Given the description of an element on the screen output the (x, y) to click on. 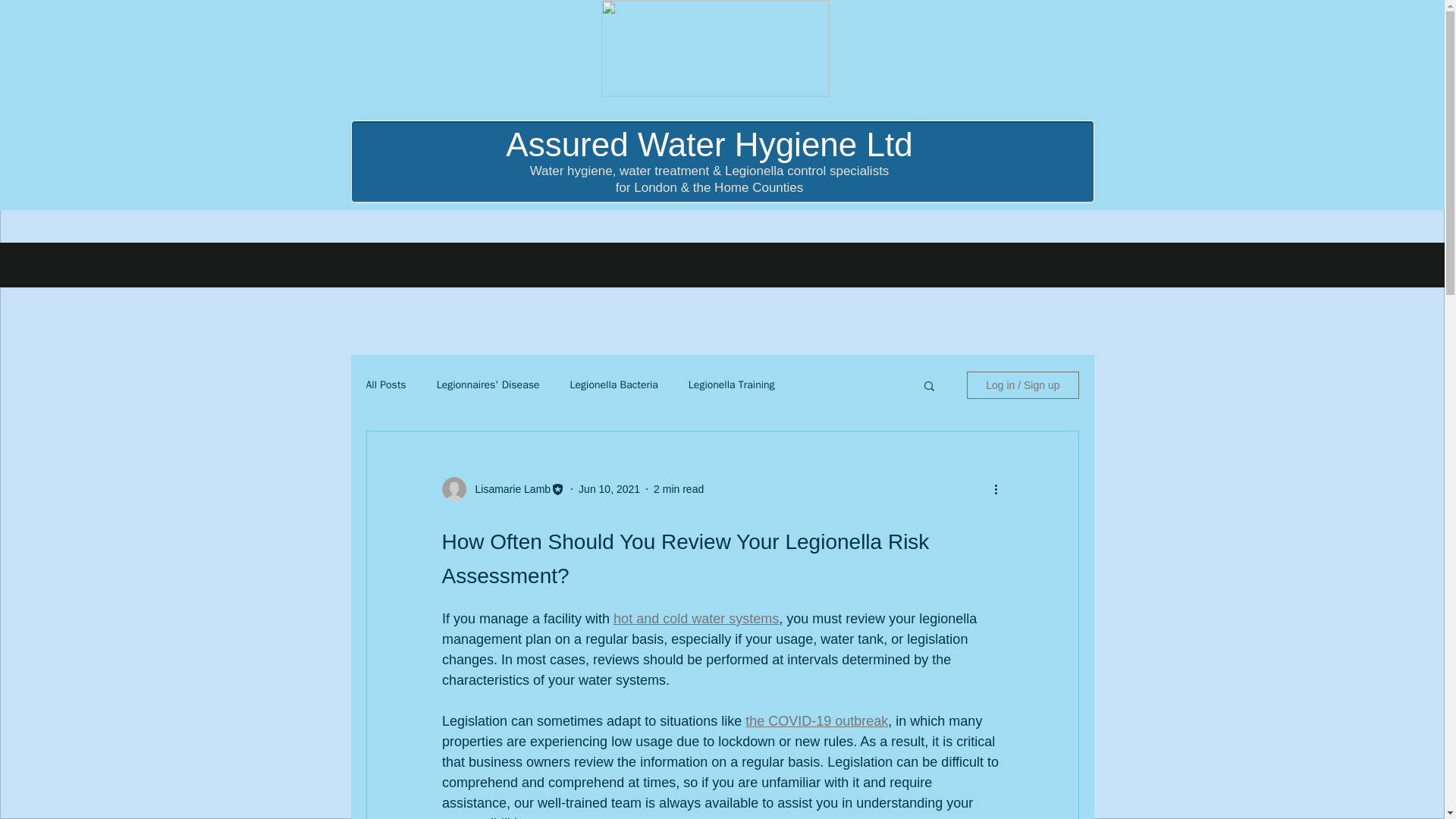
the COVID-19 outbreak (816, 720)
Legionnaires' Disease (488, 385)
Jun 10, 2021 (609, 488)
Lisamarie Lamb (507, 488)
Legionella Bacteria (614, 385)
All Posts (385, 385)
Legionella Training (731, 385)
2 min read (678, 488)
hot and cold water systems (695, 618)
